Given the description of an element on the screen output the (x, y) to click on. 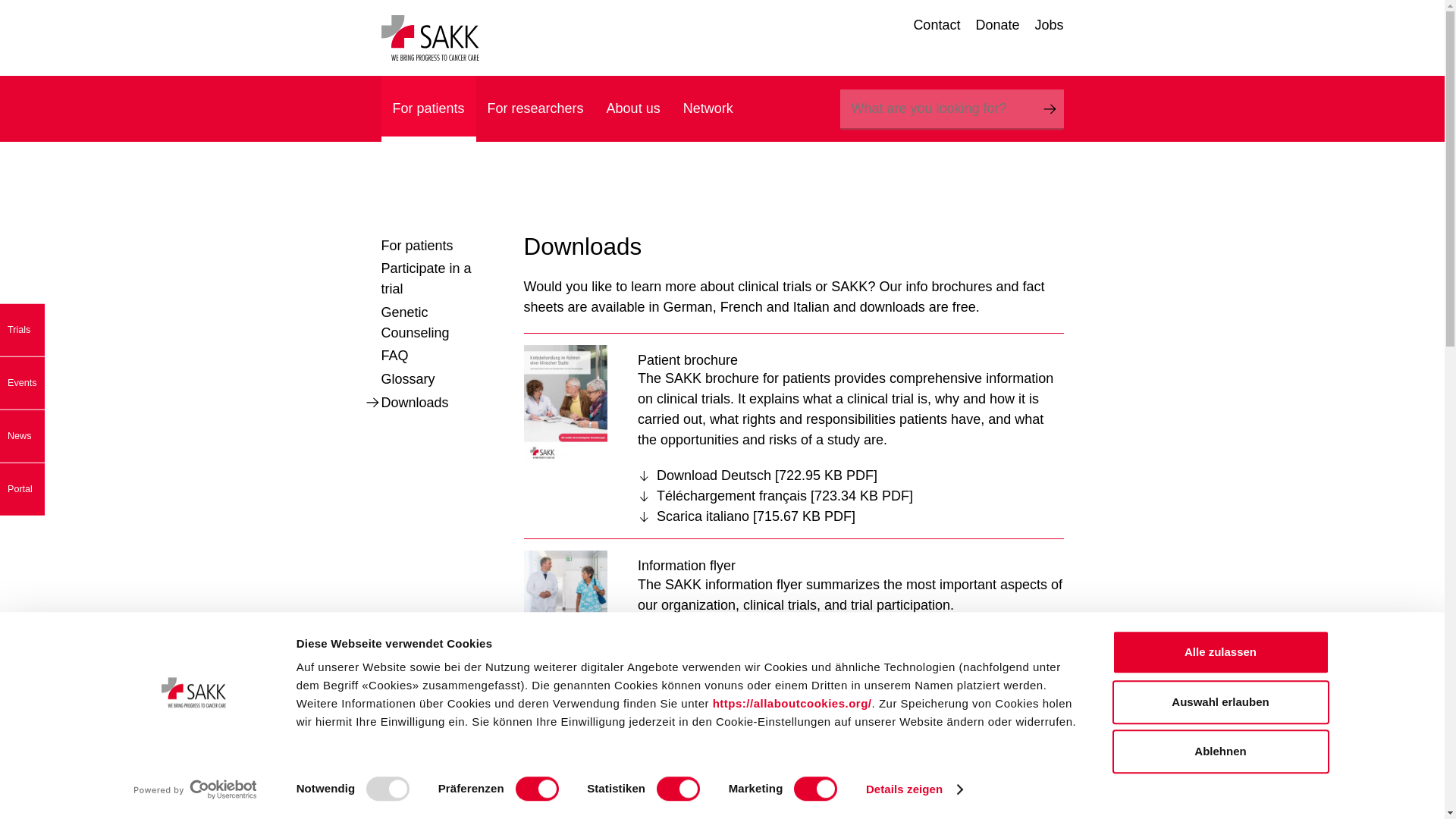
Details zeigen (914, 789)
Ablehnen (1219, 751)
Donate (997, 25)
Jobs (1047, 25)
Contact (935, 25)
Alle zulassen (1219, 651)
Auswahl erlauben (1219, 701)
